Given the description of an element on the screen output the (x, y) to click on. 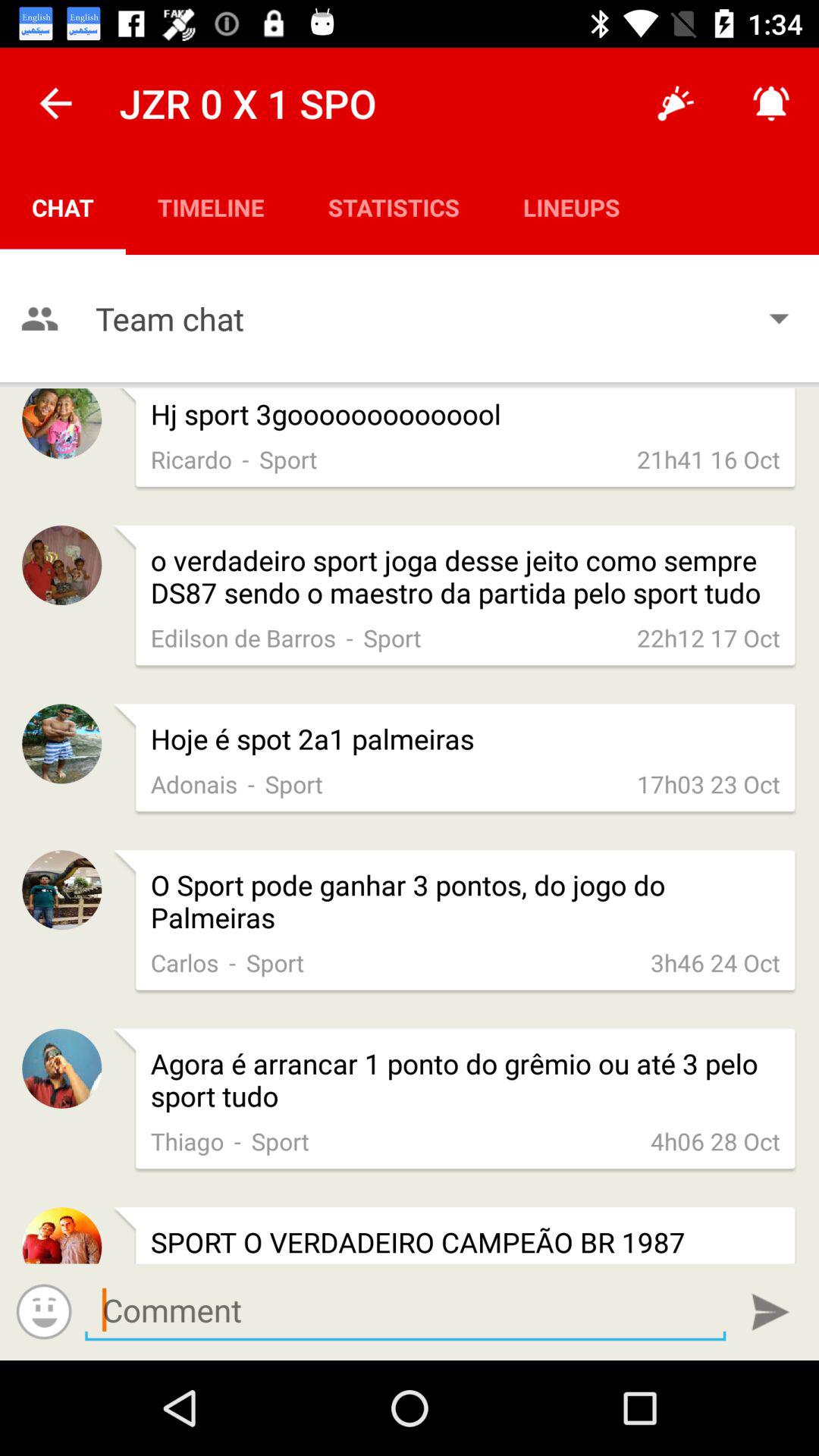
comment icon (405, 1310)
